Given the description of an element on the screen output the (x, y) to click on. 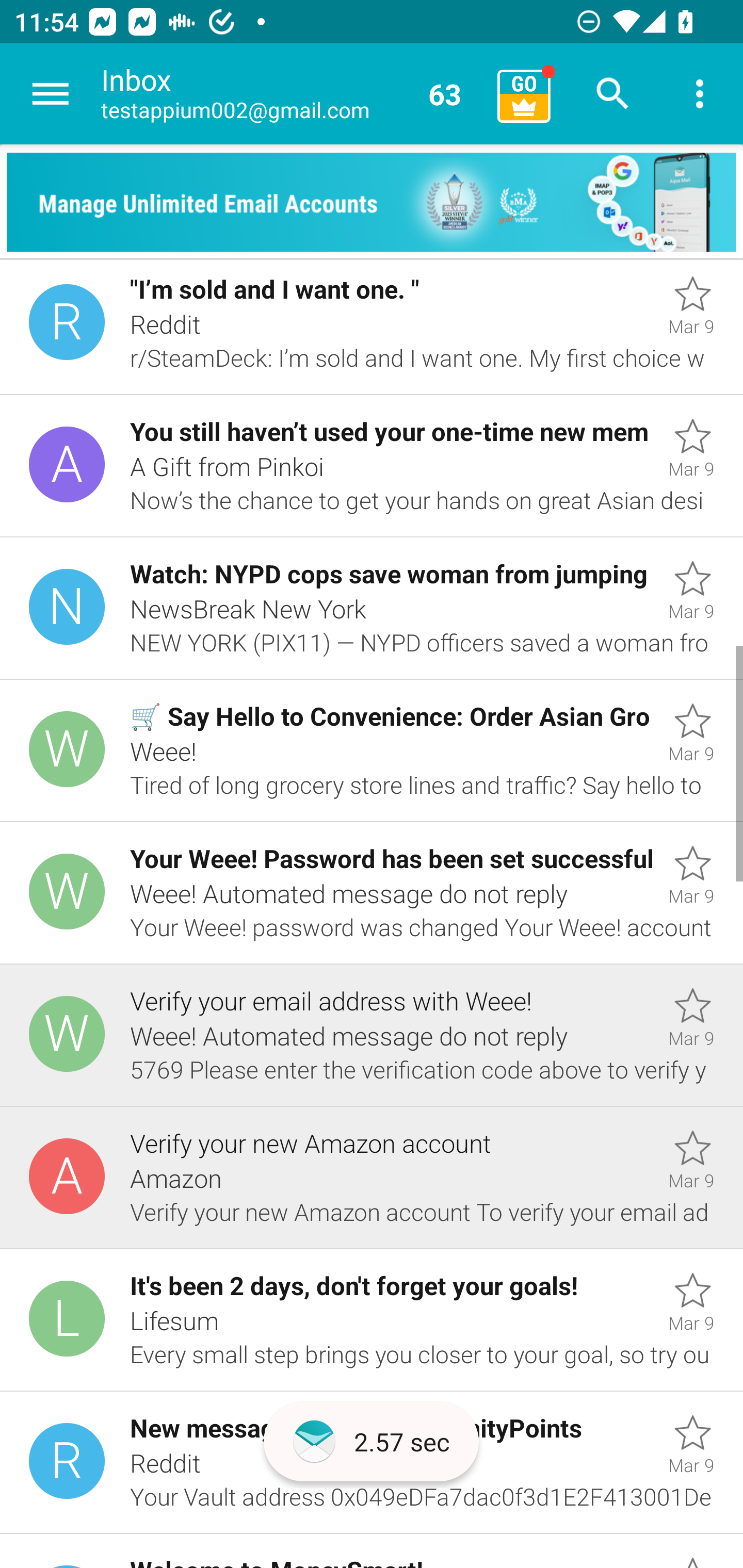
Navigate up (50, 93)
Inbox testappium002@gmail.com 63 (291, 93)
Search (612, 93)
More options (699, 93)
